Given the description of an element on the screen output the (x, y) to click on. 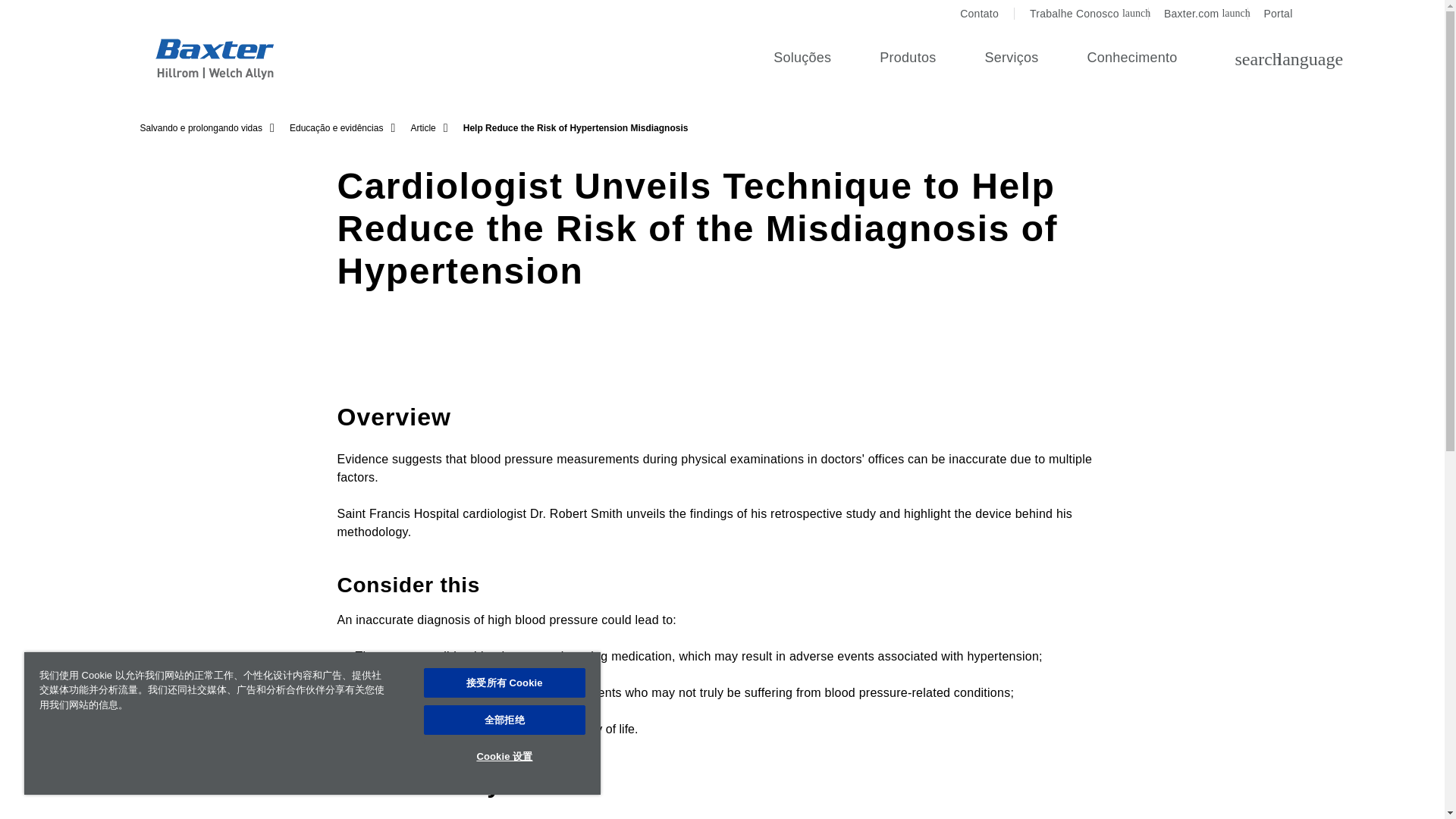
Produtos (1080, 13)
Conhecimento (907, 59)
Contato (1198, 13)
